Given the description of an element on the screen output the (x, y) to click on. 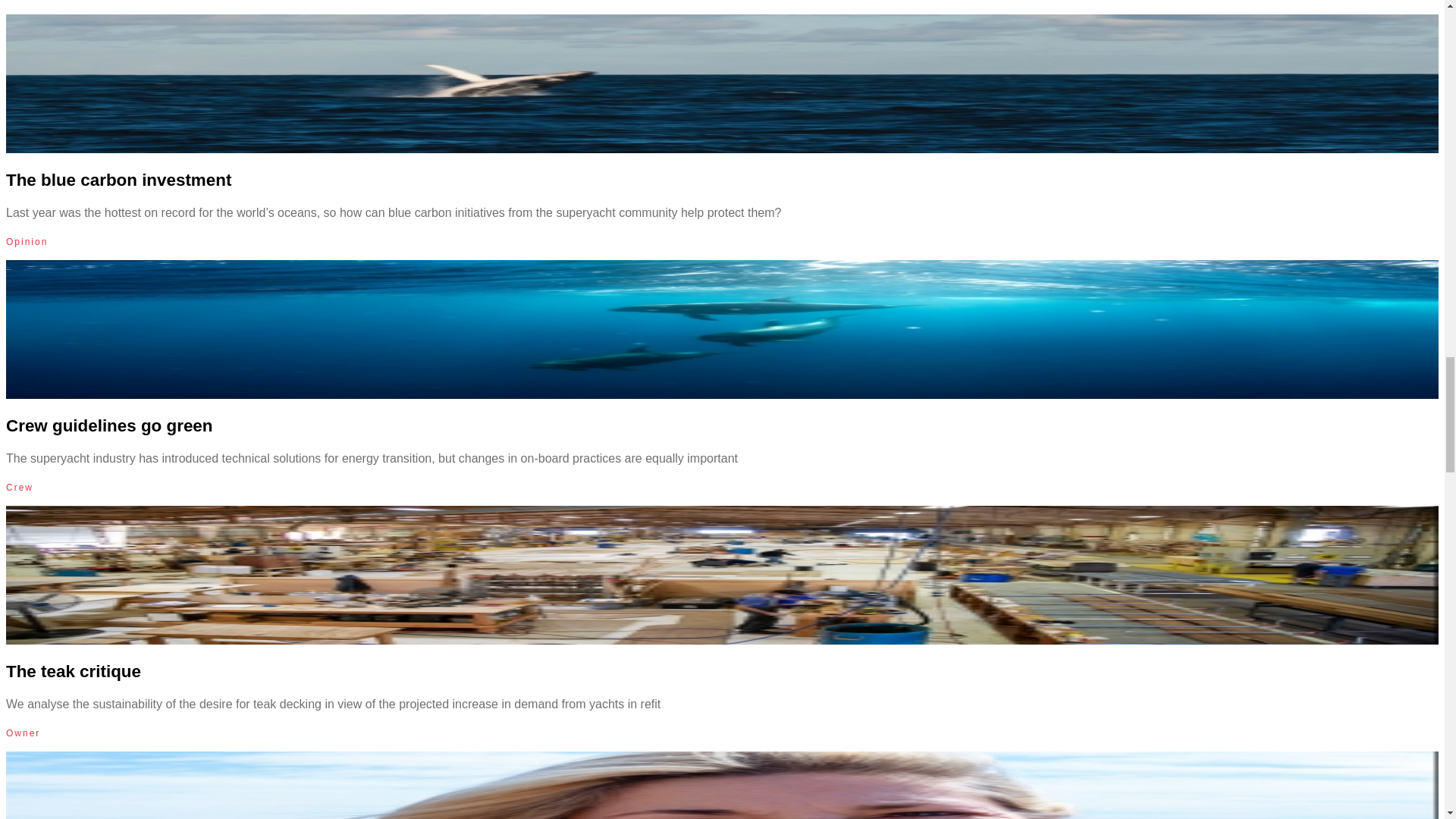
The blue carbon investment (118, 179)
The teak critique (73, 670)
Crew guidelines go green (108, 425)
